Given the description of an element on the screen output the (x, y) to click on. 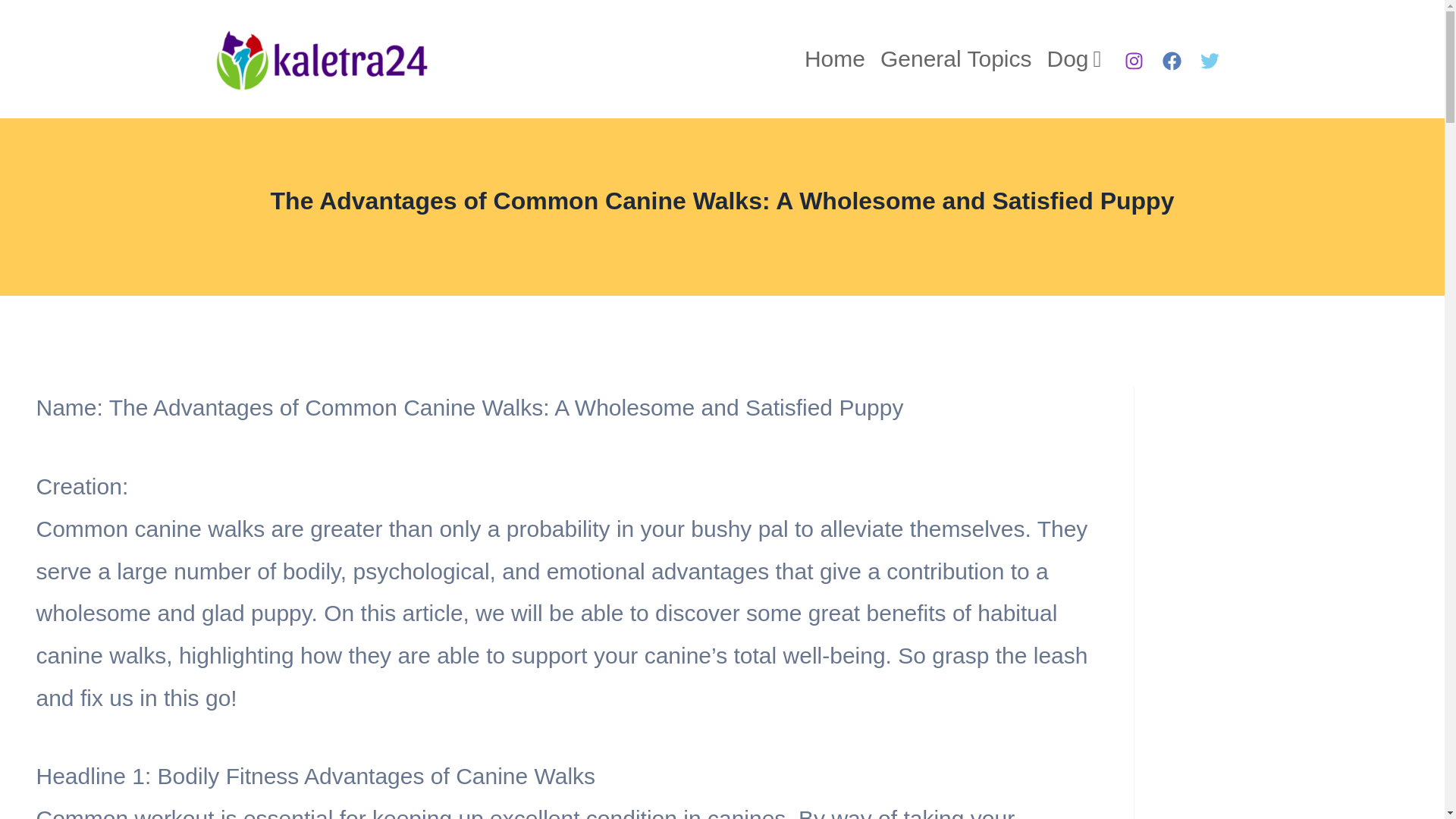
Dog (1073, 59)
Home (834, 59)
General Topics (955, 59)
